Given the description of an element on the screen output the (x, y) to click on. 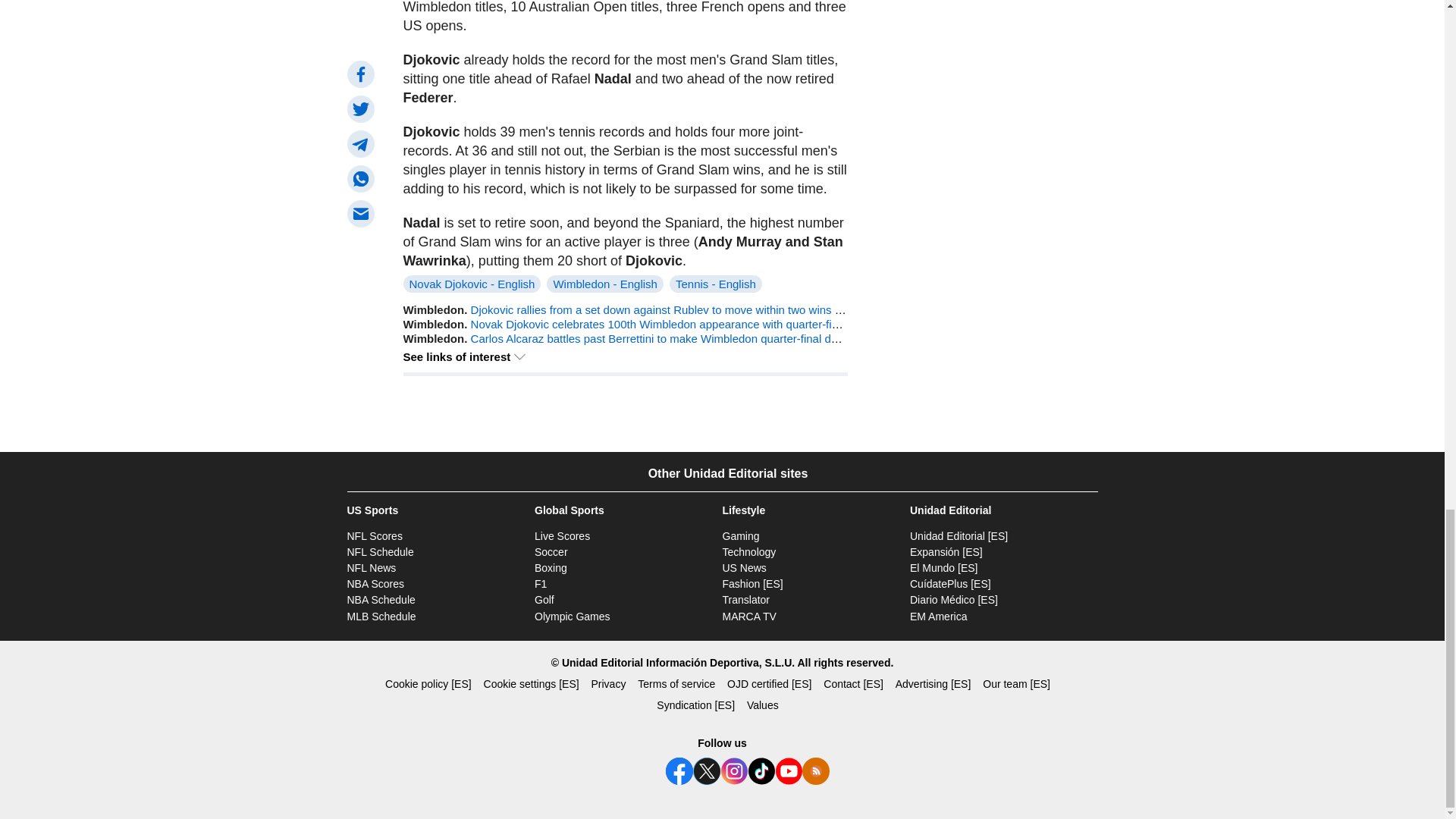
Open in new window (953, 599)
Open in new window (752, 583)
Open in new window (746, 599)
Open in new window (958, 535)
Open in new window (946, 551)
Open in new window (944, 567)
Open in new window (950, 583)
